Given the description of an element on the screen output the (x, y) to click on. 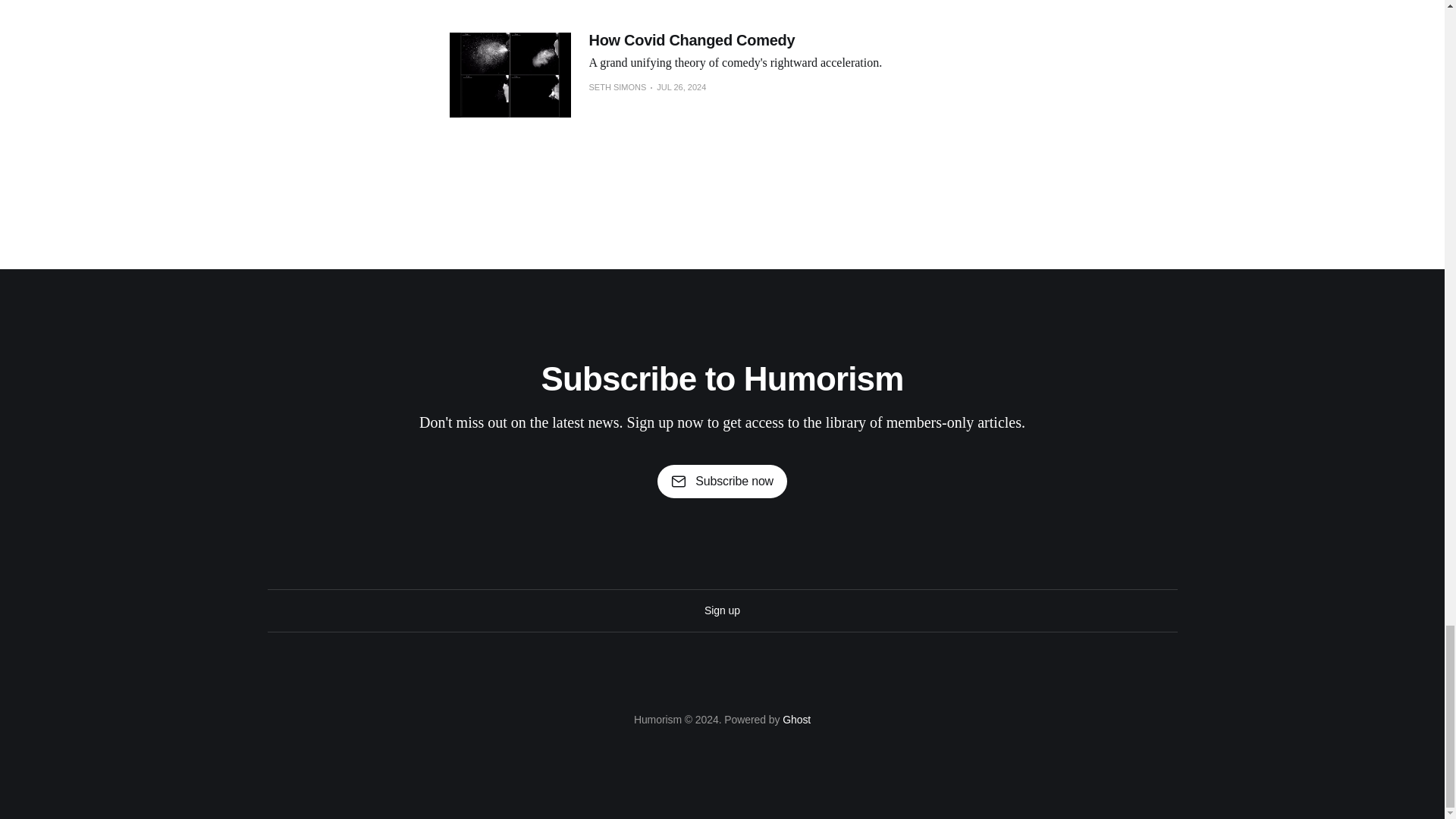
Subscribe now (722, 481)
Sign up (721, 610)
Ghost (796, 719)
